Given the description of an element on the screen output the (x, y) to click on. 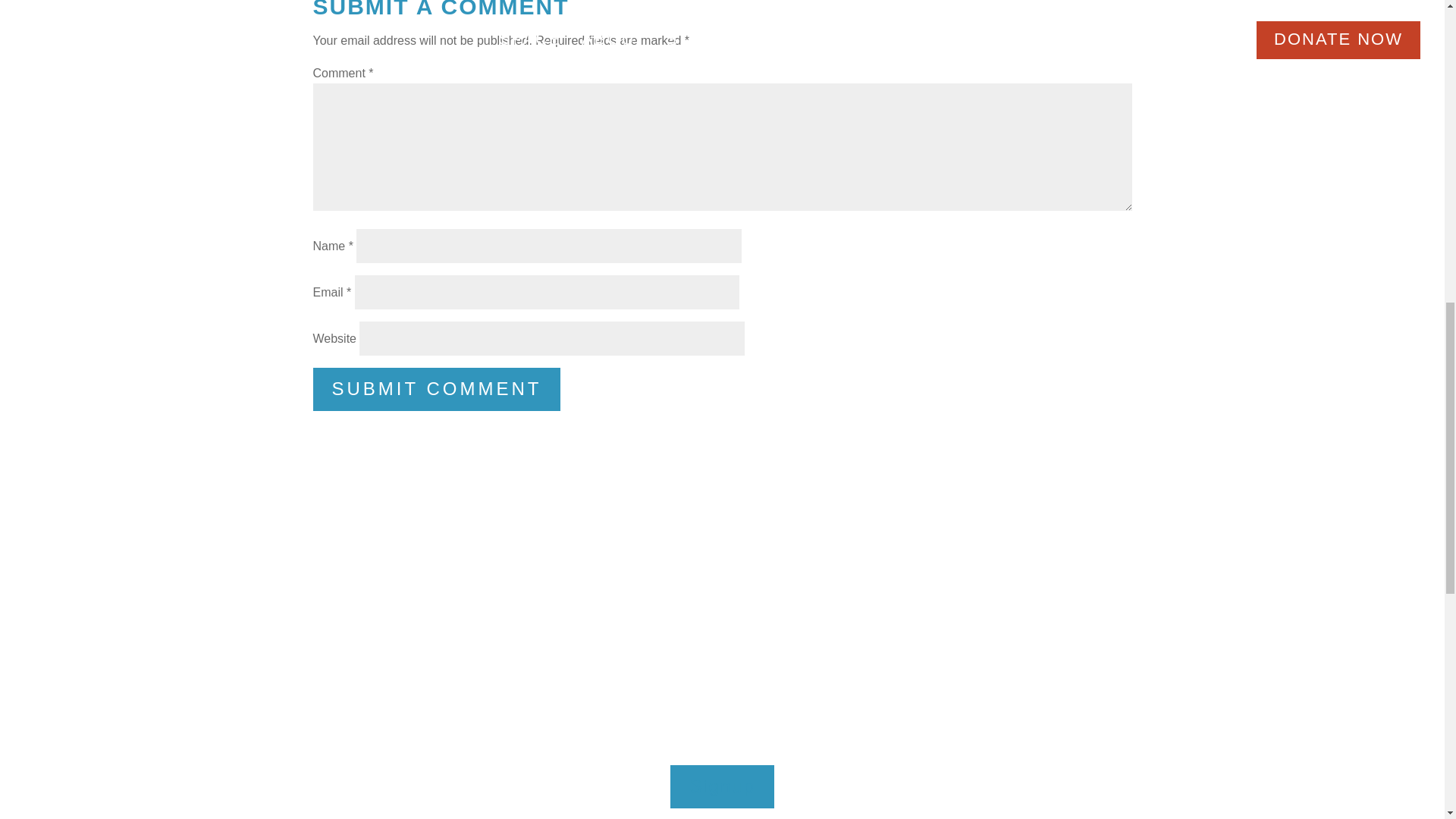
Submit Comment (436, 389)
Submit Comment (436, 389)
Signup (721, 786)
